Given the description of an element on the screen output the (x, y) to click on. 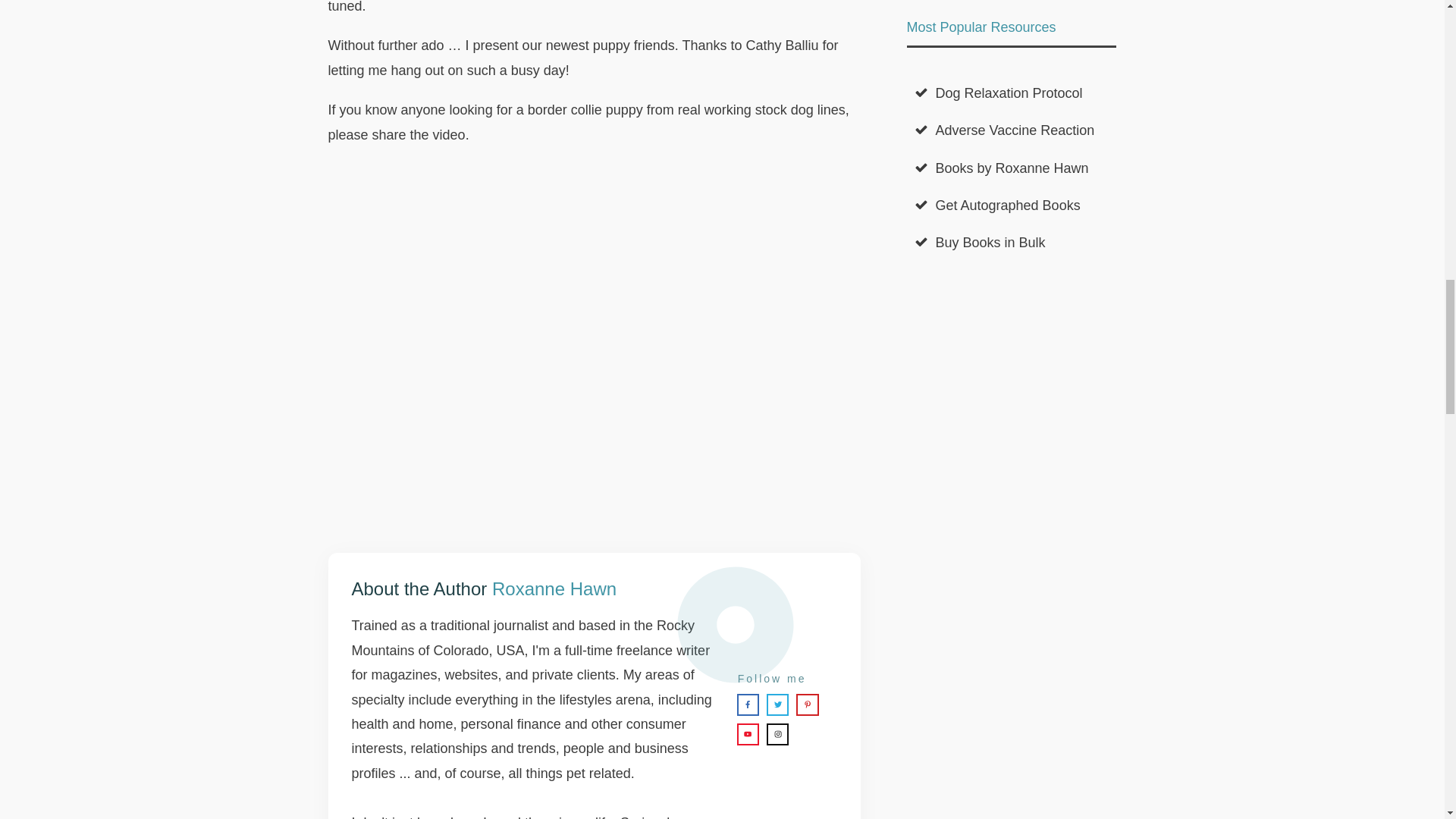
Roxanne Hawn (553, 588)
Roxanne Hawn (553, 588)
